Given the description of an element on the screen output the (x, y) to click on. 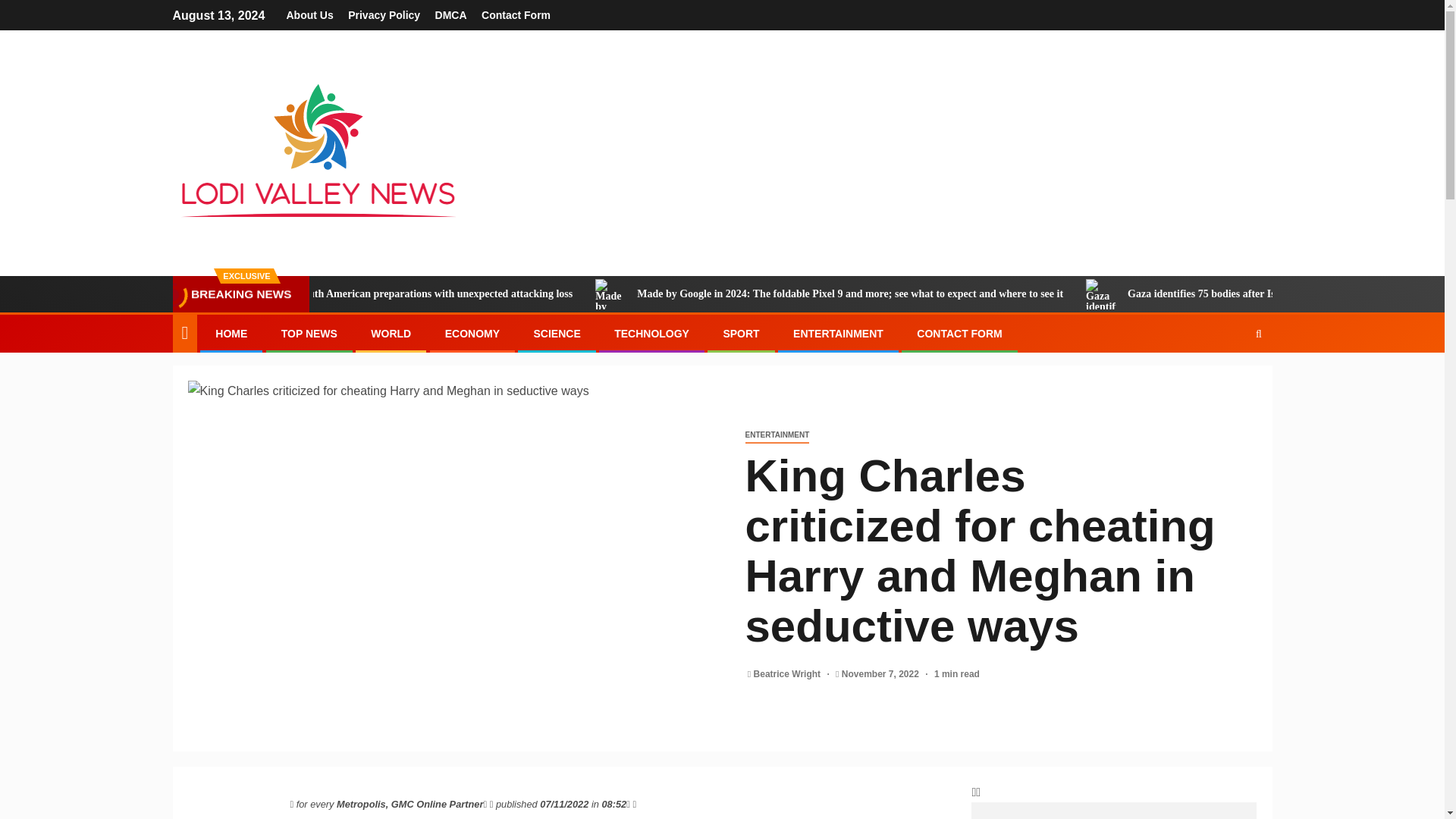
SPORT (740, 333)
CONTACT FORM (960, 333)
Contact Form (515, 15)
SCIENCE (555, 333)
Search (1229, 379)
TOP NEWS (309, 333)
ECONOMY (472, 333)
HOME (231, 333)
